Given the description of an element on the screen output the (x, y) to click on. 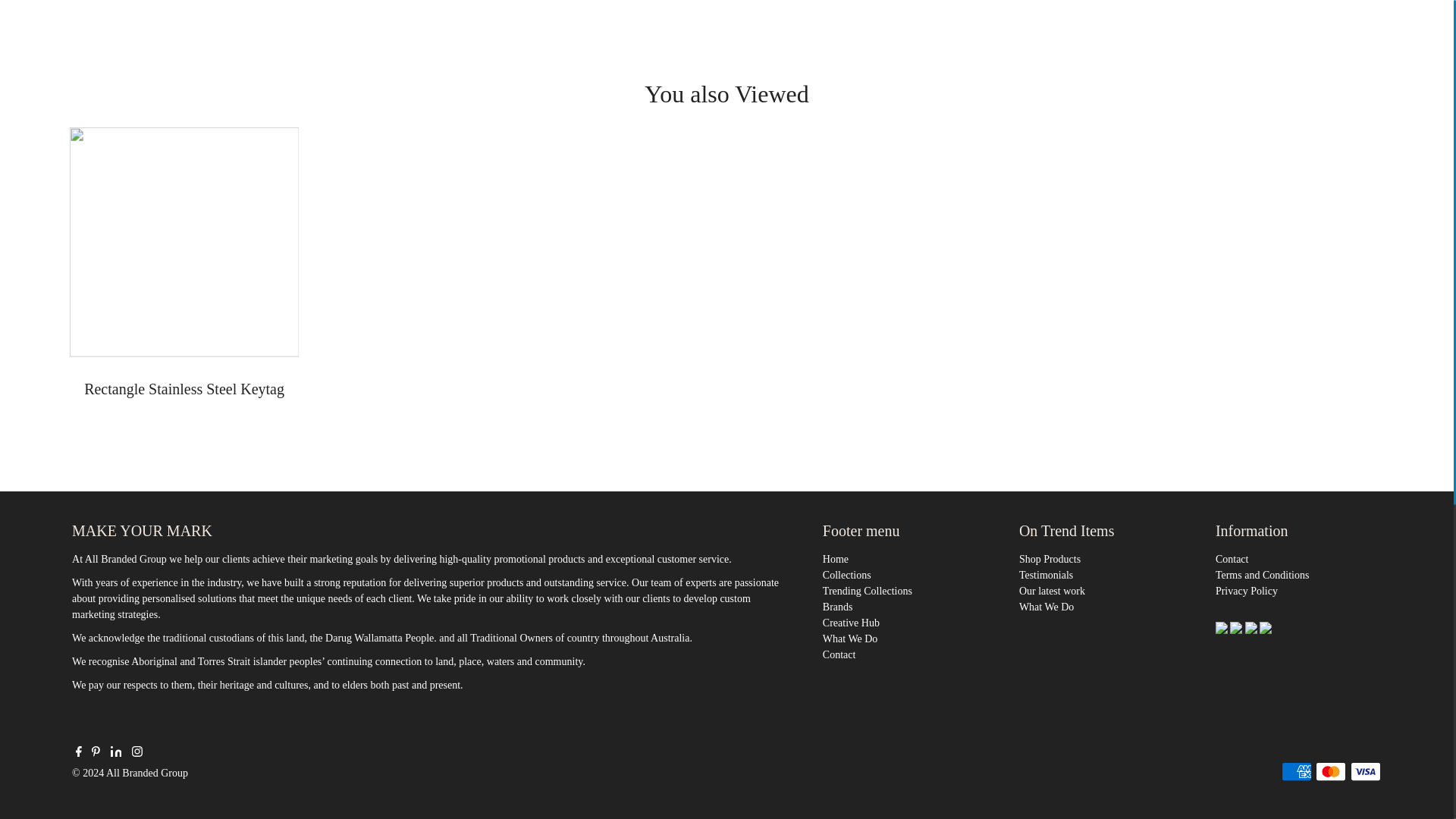
Mastercard (1330, 771)
American Express (1296, 771)
Visa (1365, 771)
Rectangle Stainless Steel Keytag (184, 242)
